Given the description of an element on the screen output the (x, y) to click on. 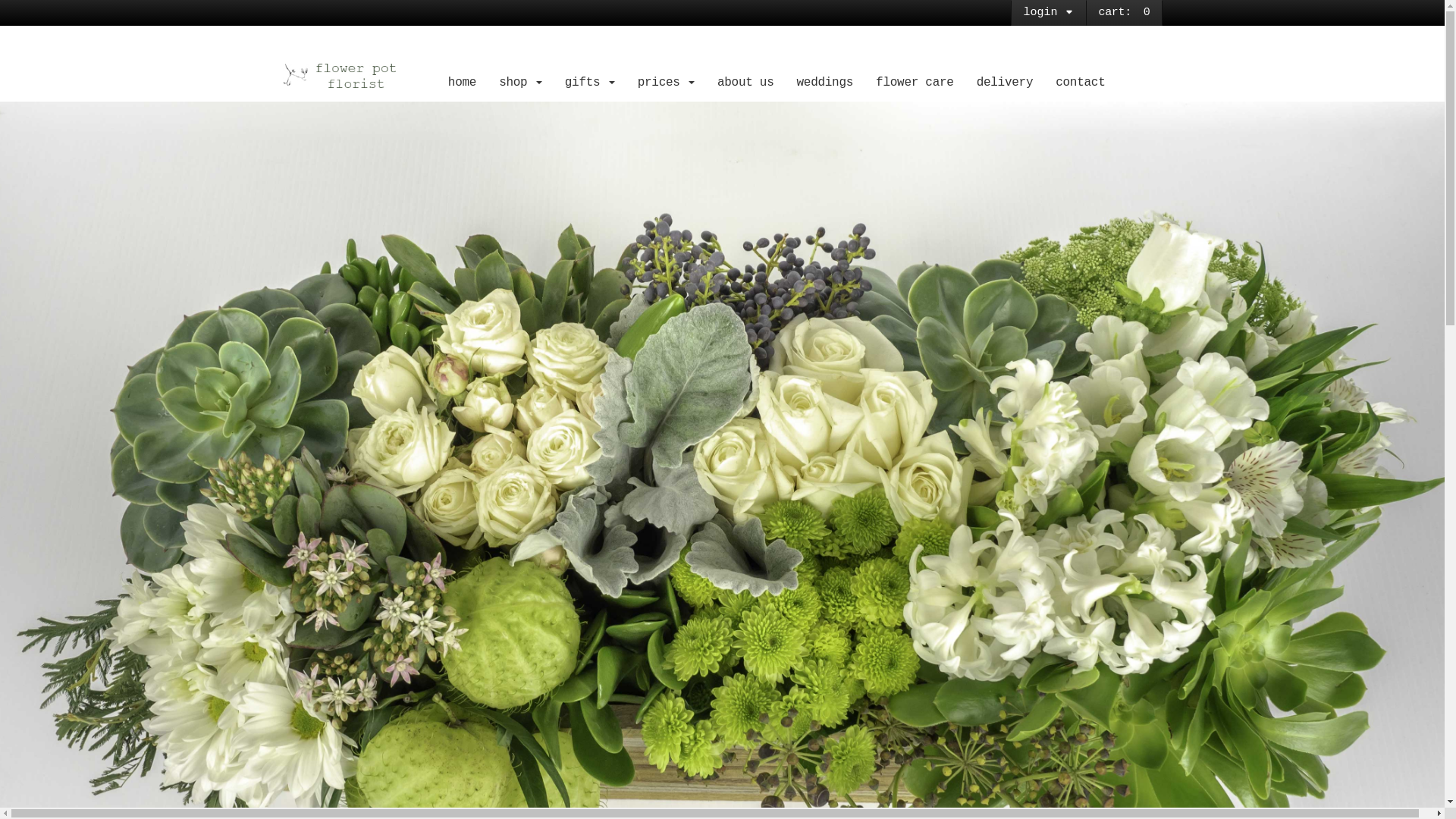
cart: 0 Element type: text (1123, 12)
shop Element type: text (520, 82)
about us Element type: text (745, 82)
prices Element type: text (666, 82)
home Element type: text (461, 82)
weddings Element type: text (825, 82)
login Element type: text (1048, 12)
contact Element type: text (1080, 82)
gifts Element type: text (589, 82)
Flower Pot Florist Element type: hover (355, 75)
delivery Element type: text (1004, 82)
flower care Element type: text (914, 82)
